Given the description of an element on the screen output the (x, y) to click on. 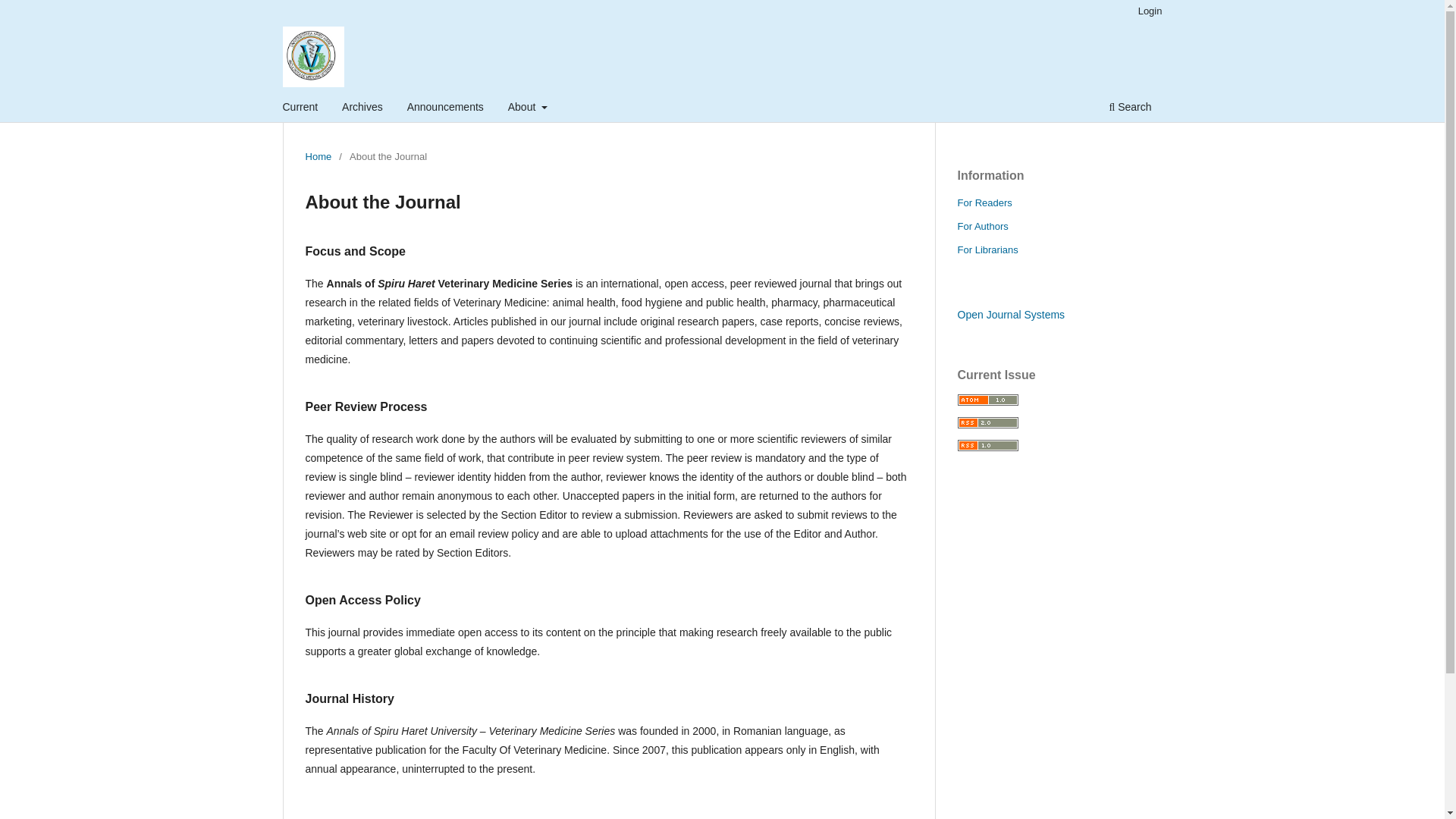
Login (1150, 11)
For Authors (981, 225)
Announcements (445, 108)
Archives (362, 108)
For Readers (983, 202)
Search (1129, 108)
For Librarians (986, 249)
Home (317, 156)
Current (300, 108)
About (527, 108)
